Given the description of an element on the screen output the (x, y) to click on. 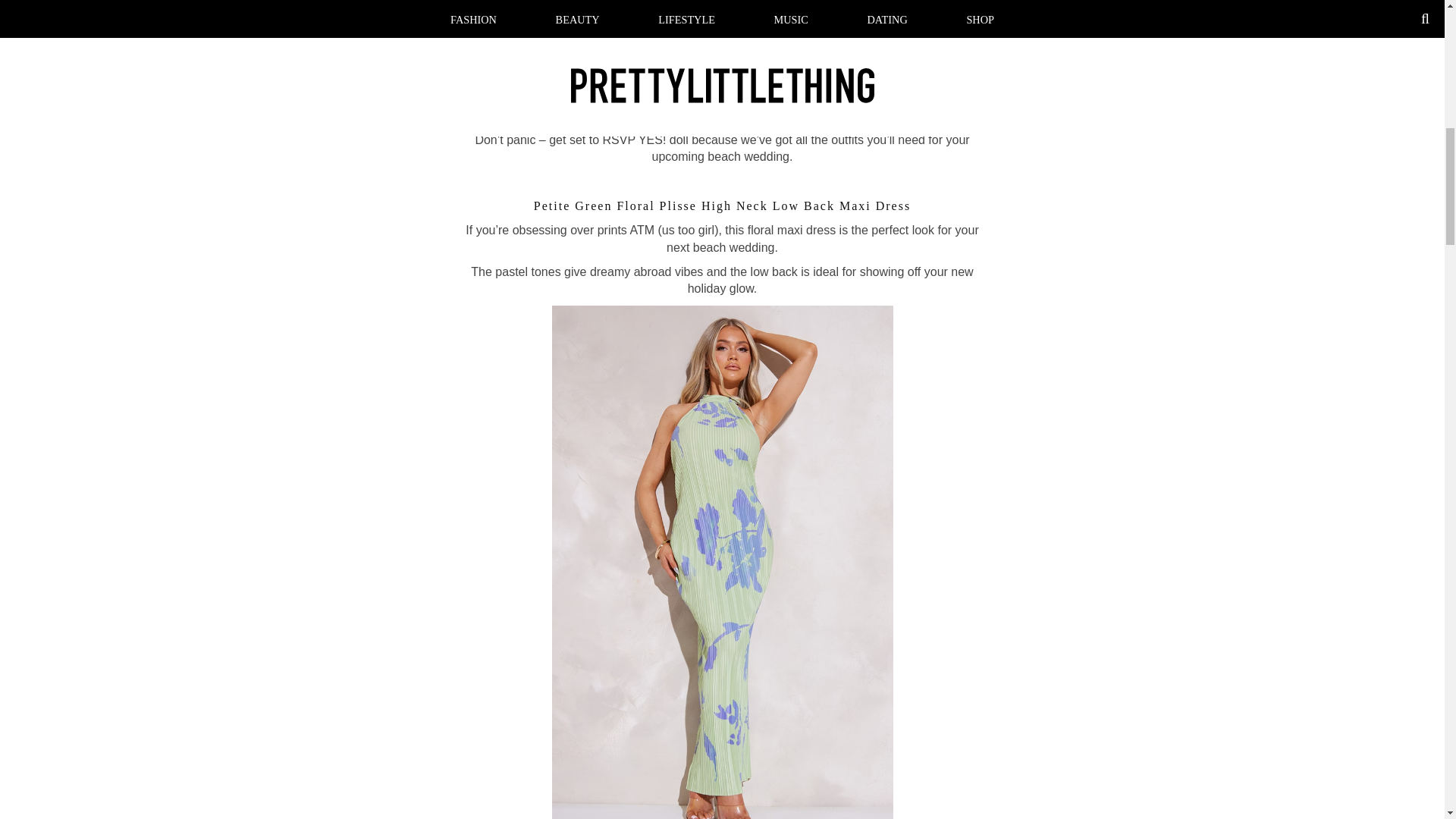
Petite Green Floral Plisse High Neck Low Back Maxi Dress (722, 206)
